Given the description of an element on the screen output the (x, y) to click on. 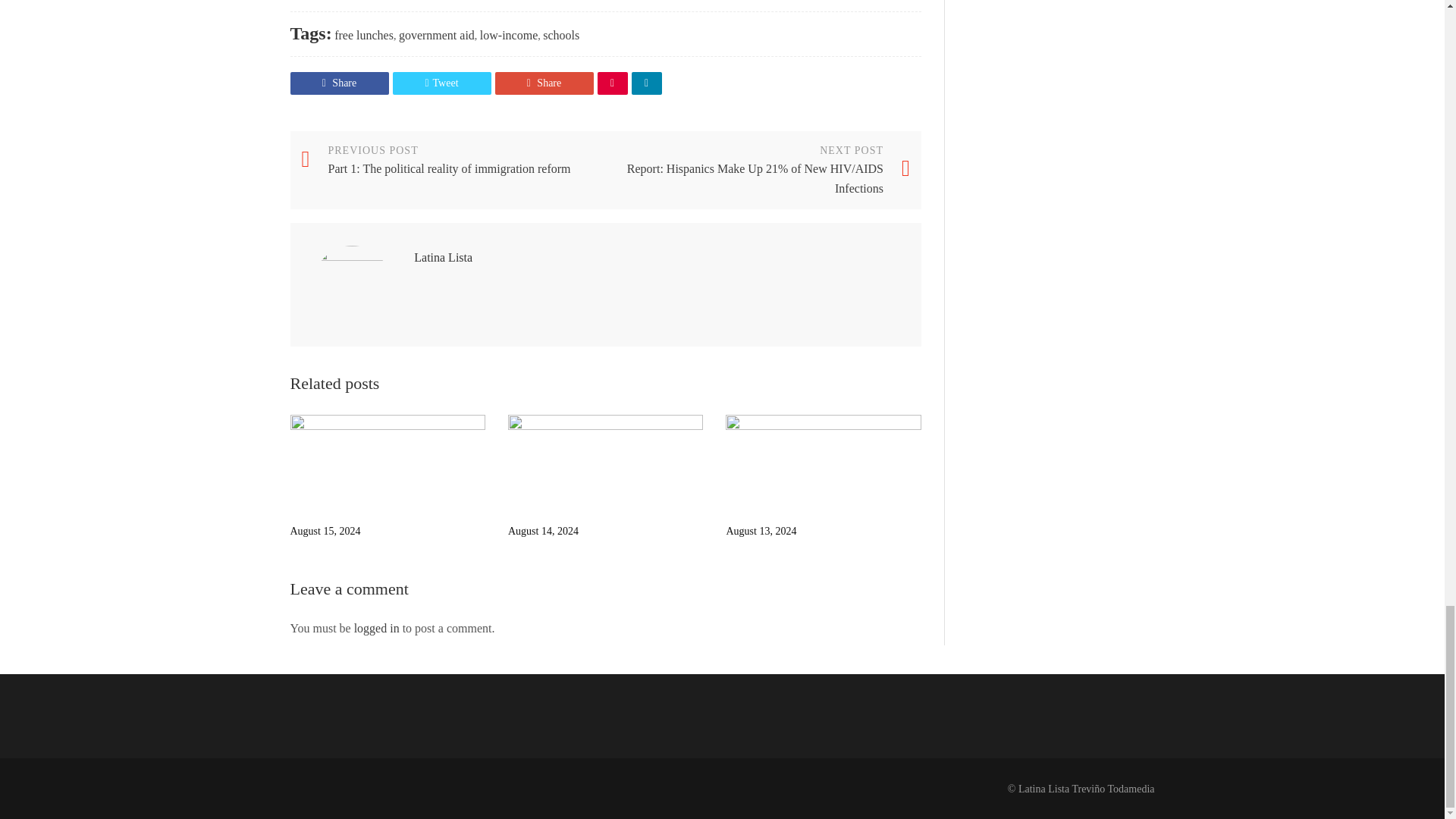
August 15, 2024 (386, 463)
August 14, 2024 (605, 463)
August 13, 2024 (822, 463)
Posts by Latina Lista (442, 256)
